Given the description of an element on the screen output the (x, y) to click on. 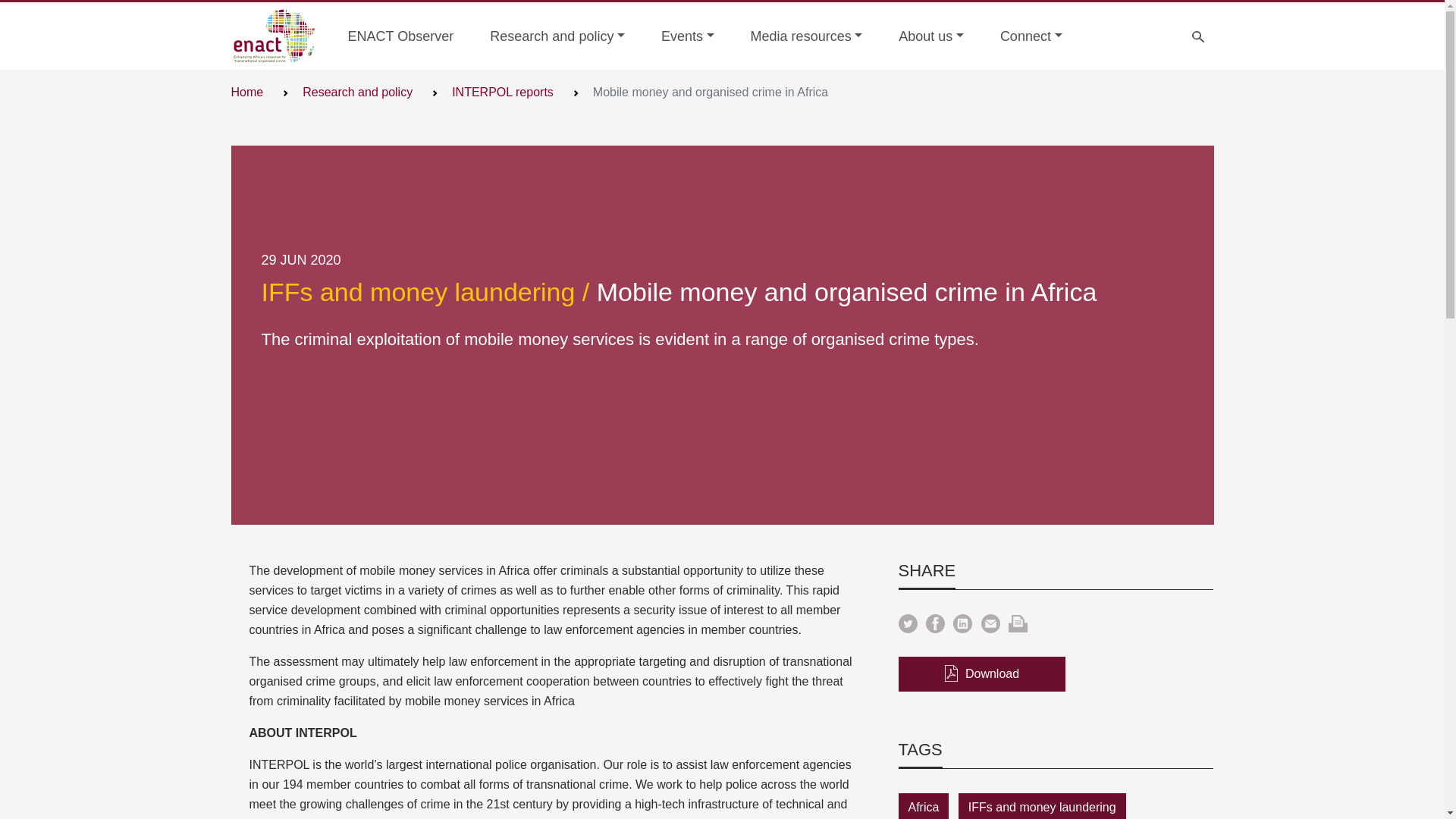
Connect (1030, 36)
About us (930, 36)
Media resources (806, 36)
Research and policy (357, 91)
Events (687, 36)
Home (246, 91)
Research and policy (557, 36)
ENACT Observer (400, 36)
INTERPOL reports (502, 91)
